Given the description of an element on the screen output the (x, y) to click on. 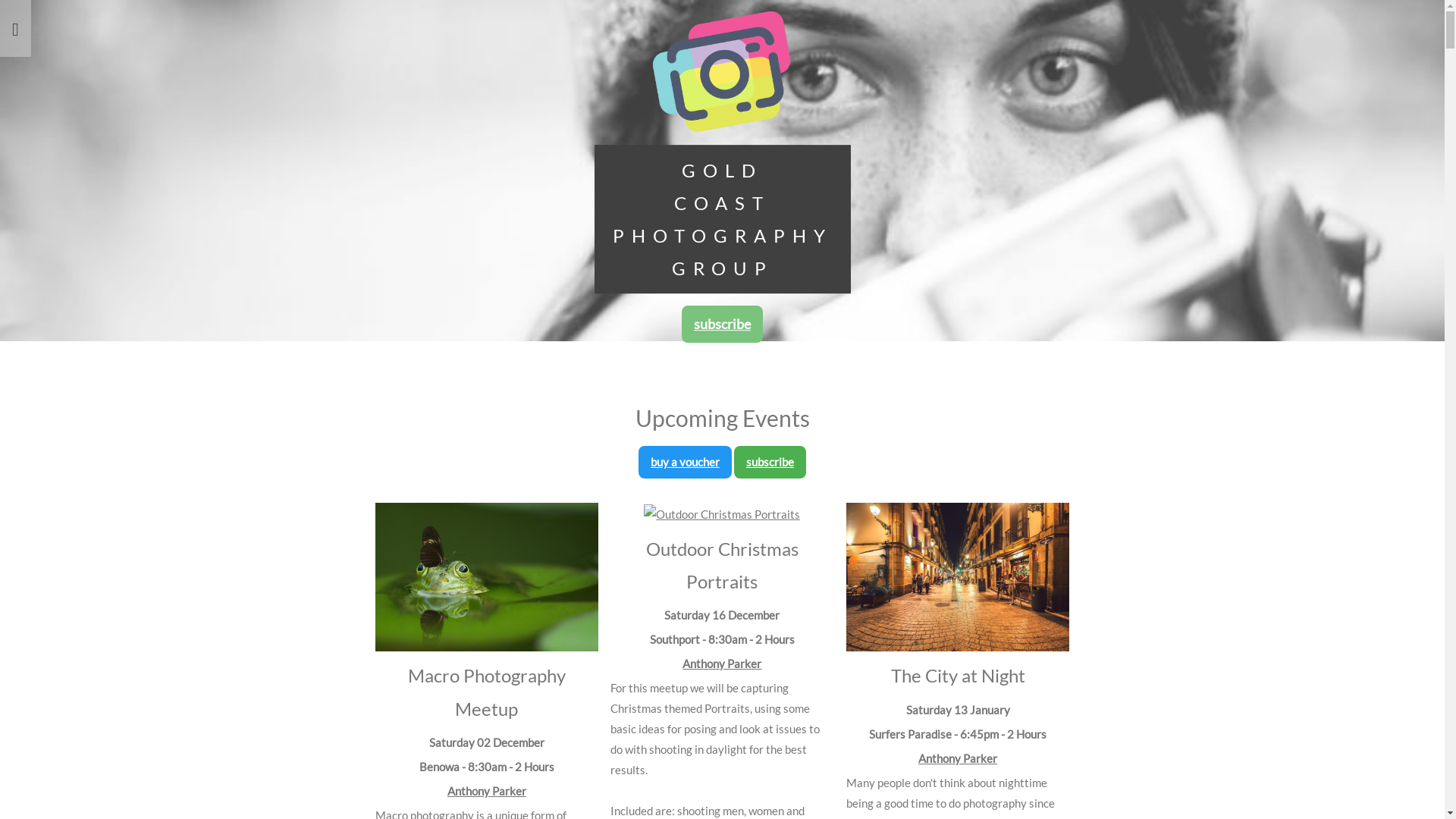
buy a voucher Element type: text (684, 461)
subscribe Element type: text (721, 323)
Anthony Parker Element type: text (957, 757)
subscribe Element type: text (769, 461)
Anthony Parker Element type: text (721, 663)
Anthony Parker Element type: text (486, 790)
